Given the description of an element on the screen output the (x, y) to click on. 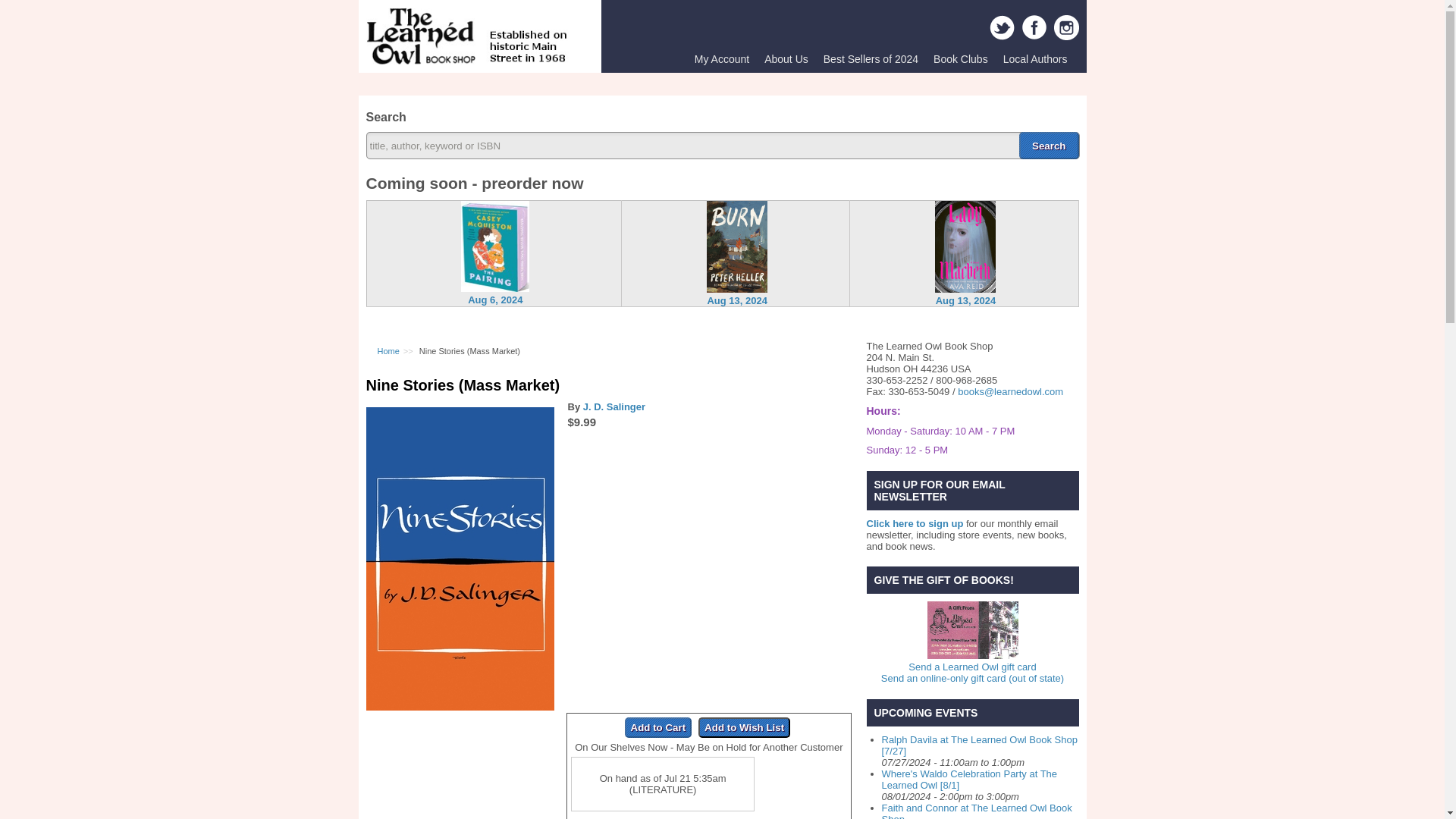
Home (467, 60)
Local Authors (1035, 58)
My Account (722, 58)
Home (387, 350)
Best Sellers of 2024 (870, 58)
J. D. Salinger (614, 406)
Add to Wish List (744, 727)
About Us (786, 58)
Book Clubs (960, 58)
Add to Cart (658, 727)
Aug 13, 2024 (736, 299)
Enter the terms you wish to search for. (721, 144)
Aug 6, 2024 (494, 299)
Search (1048, 144)
